Given the description of an element on the screen output the (x, y) to click on. 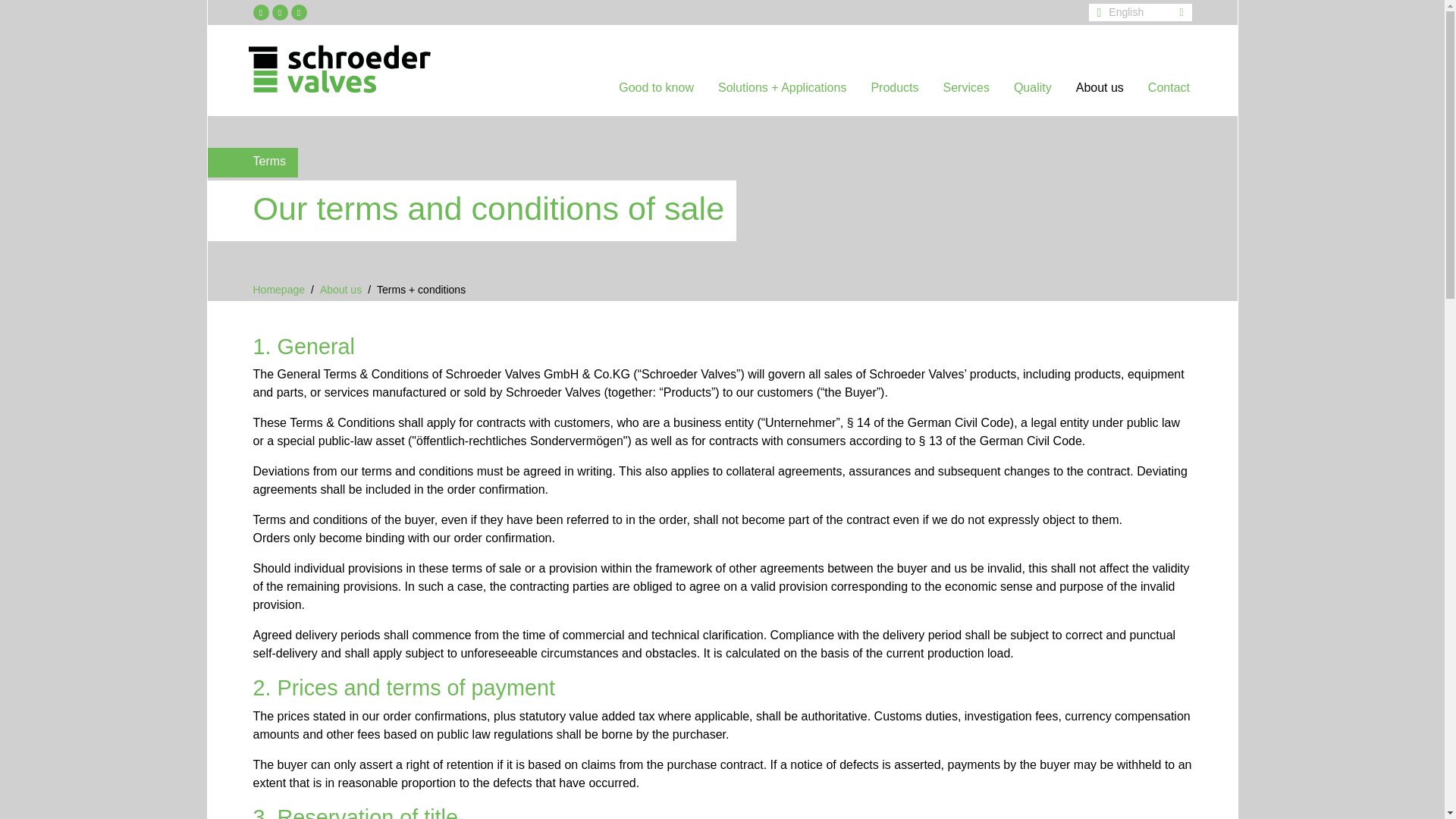
E-Mail senden an Schroeder Valves (278, 12)
Services (966, 94)
Products (894, 94)
Schroeder Valves Anrufen (299, 12)
E-Mail senden an Schroeder Valves (278, 12)
About us (1099, 94)
Good to know (656, 94)
Schroeder Valves auf LinkedIn (261, 12)
Products (894, 94)
Schroeder Valves Anrufen (299, 12)
